Given the description of an element on the screen output the (x, y) to click on. 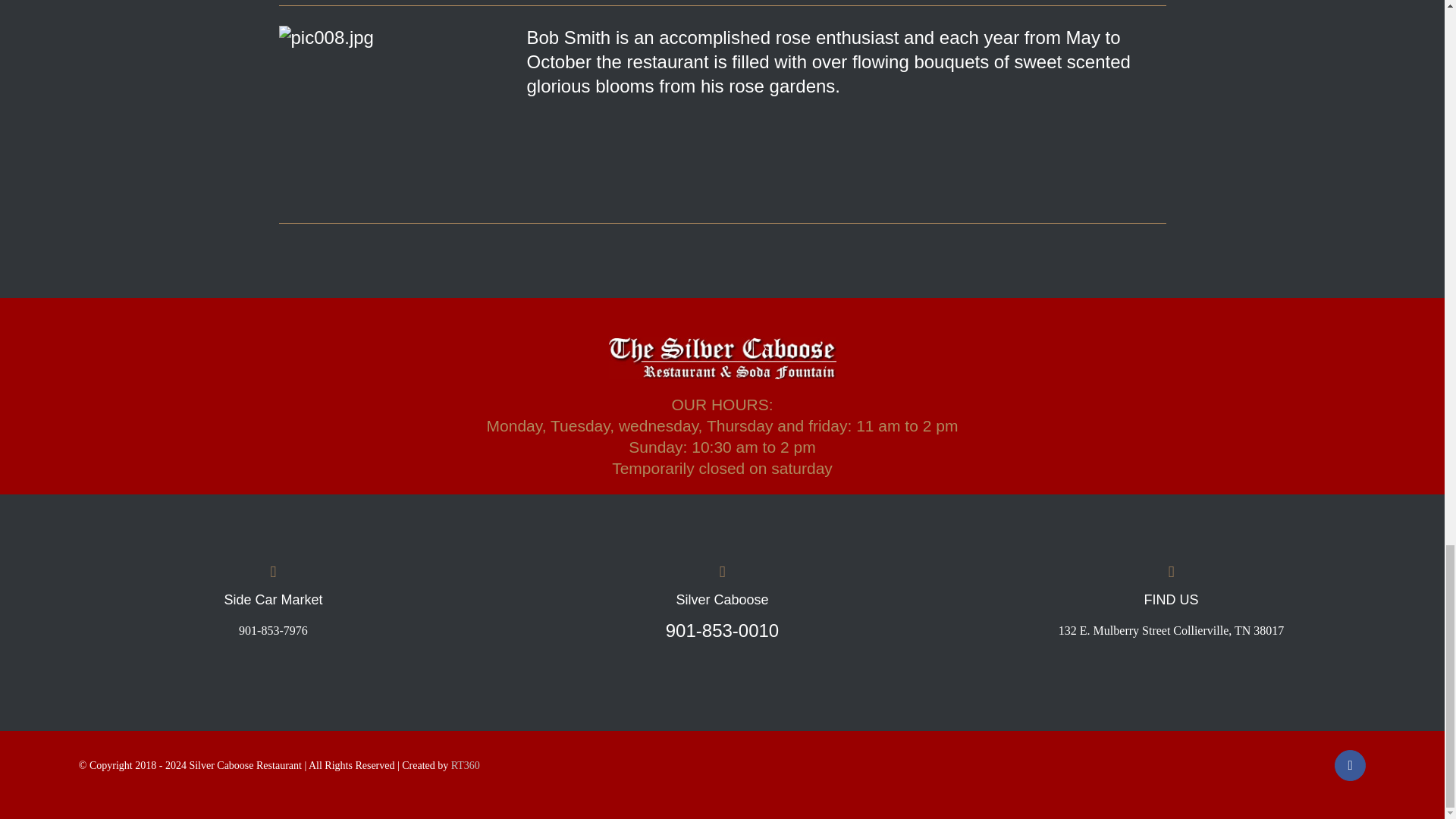
pic008.jpg (397, 114)
RT360 (465, 765)
Facebook (1350, 765)
